Given the description of an element on the screen output the (x, y) to click on. 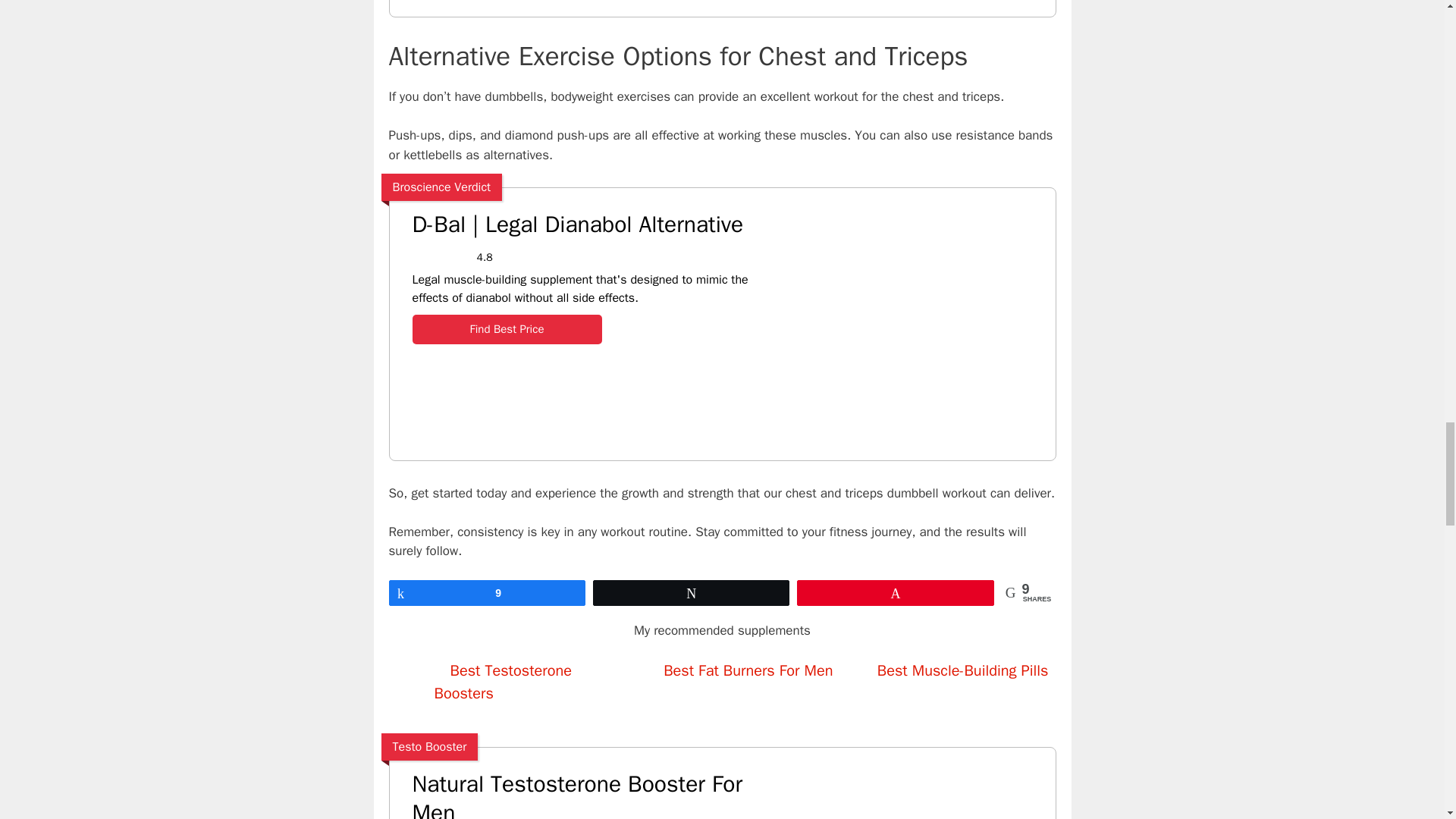
Fat Burner Diet Drops: Ultra Fat Loss Supercharger (921, 11)
Natural Testosterone Booster For Men (589, 794)
